Given the description of an element on the screen output the (x, y) to click on. 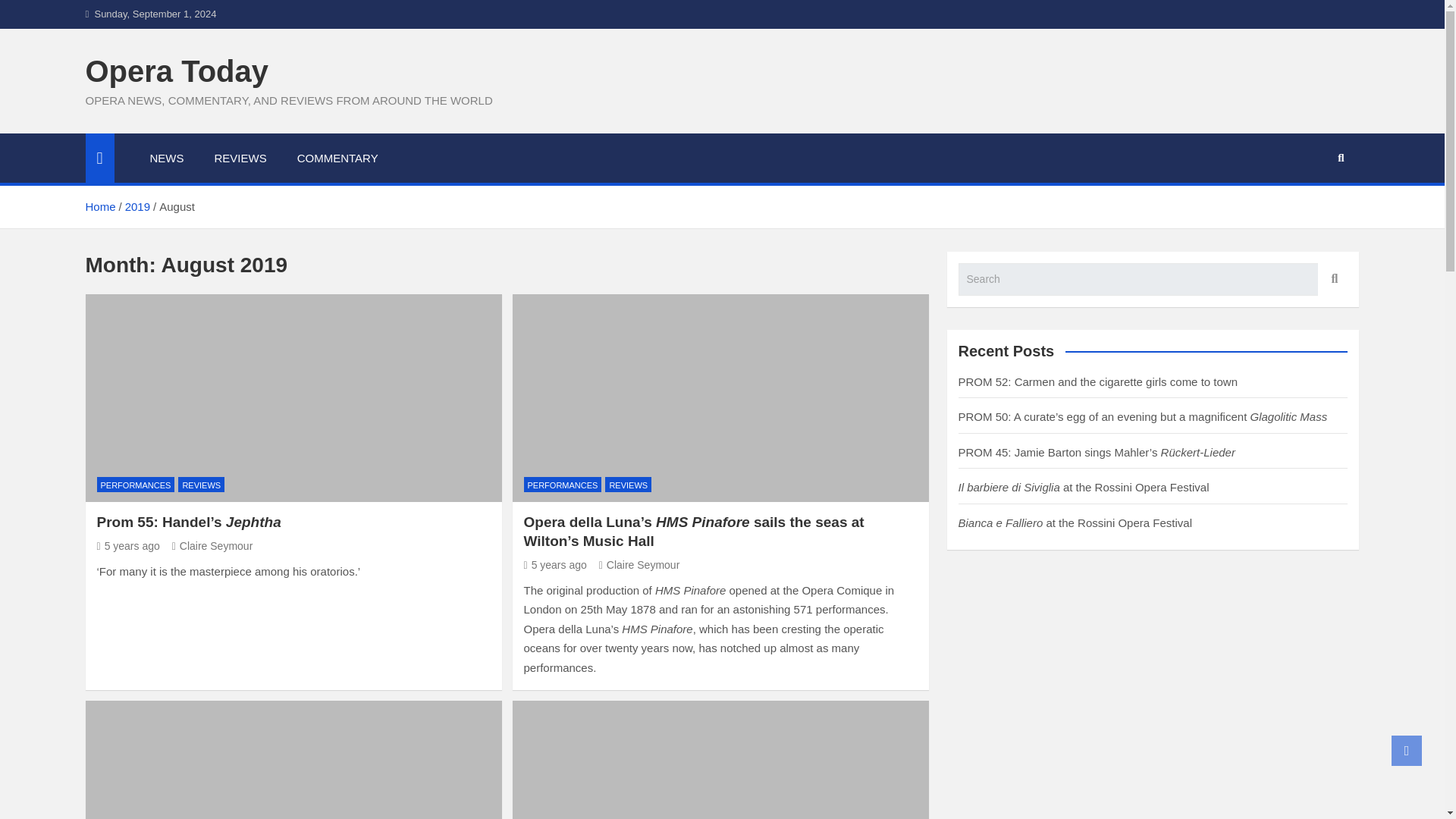
COMMENTARY (337, 158)
PERFORMANCES (135, 484)
Home (99, 205)
2019 (137, 205)
NEWS (167, 158)
Claire Seymour (638, 564)
Opera Today (175, 70)
Spectra Ensemble present Treemonisha at Grimeborn (292, 760)
REVIEWS (200, 484)
